Given the description of an element on the screen output the (x, y) to click on. 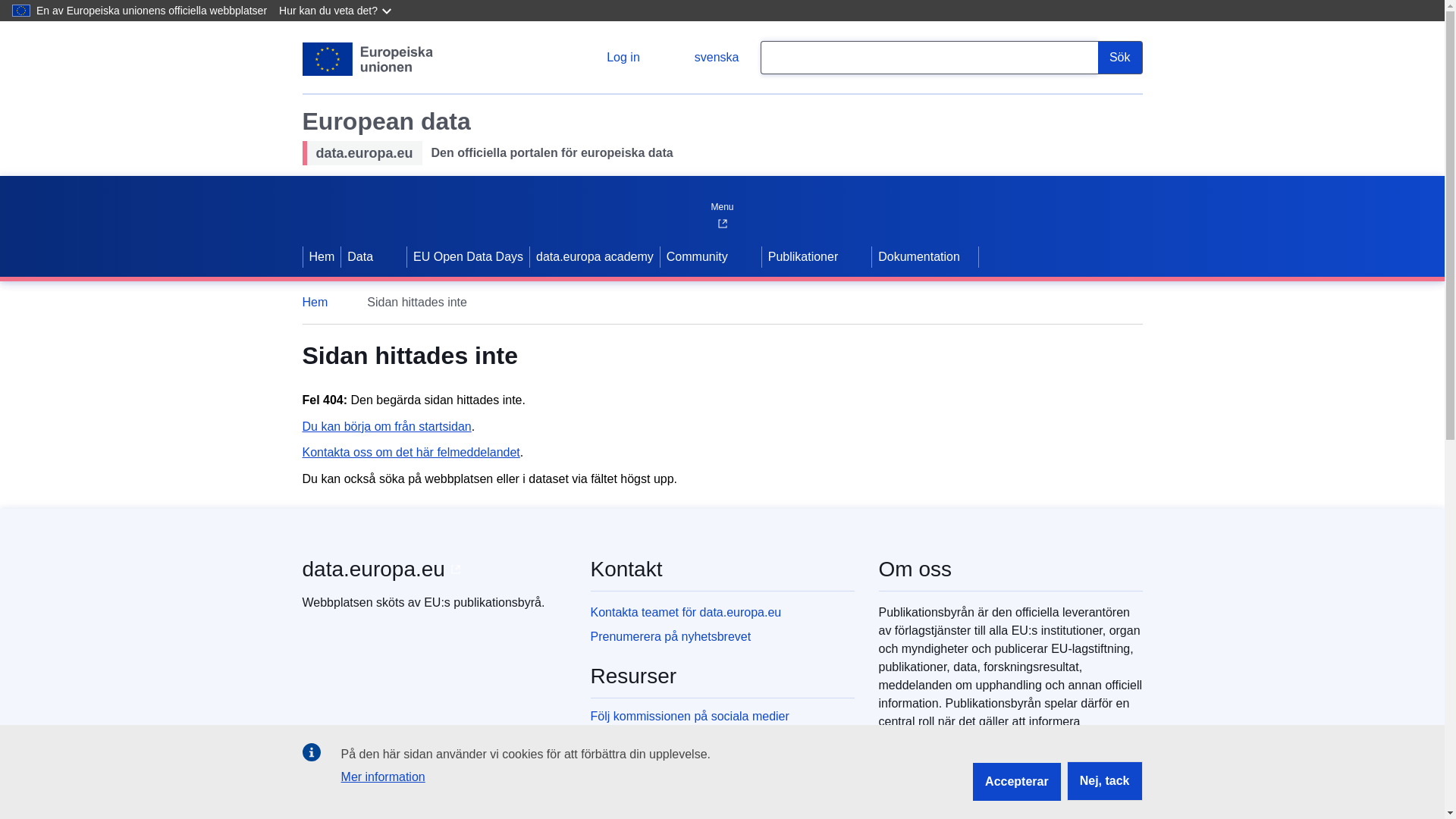
Community (695, 256)
data.europa academy (594, 256)
Hur kan du veta det? (335, 10)
svenska (704, 57)
Hem (321, 302)
EU Open Data Days (468, 256)
European Union (366, 59)
Dokumentation (925, 256)
Log in (611, 57)
Hem (321, 256)
